Given the description of an element on the screen output the (x, y) to click on. 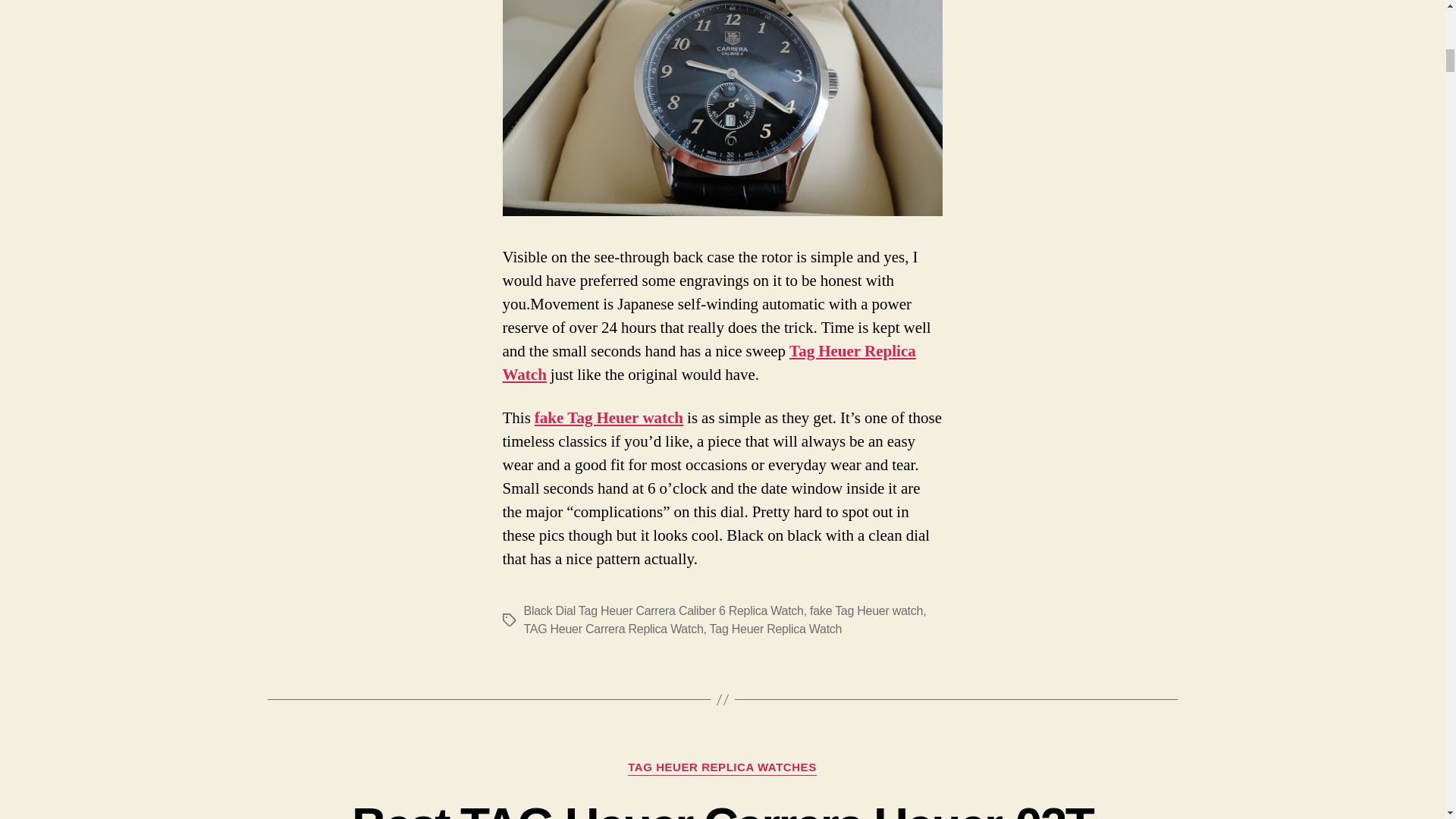
Tag Heuer Replica Watch (708, 362)
Black Dial Tag Heuer Carrera Caliber 6 Replica Watch (662, 610)
fake Tag Heuer watch (866, 610)
TAG HEUER REPLICA WATCHES (721, 767)
TAG Heuer Carrera Replica Watch (612, 628)
fake Tag Heuer watch (608, 417)
Best TAG Heuer Carrera Heuer-02T Black Phantom Replica Watch (722, 808)
Tag Heuer Replica Watch (776, 628)
